Given the description of an element on the screen output the (x, y) to click on. 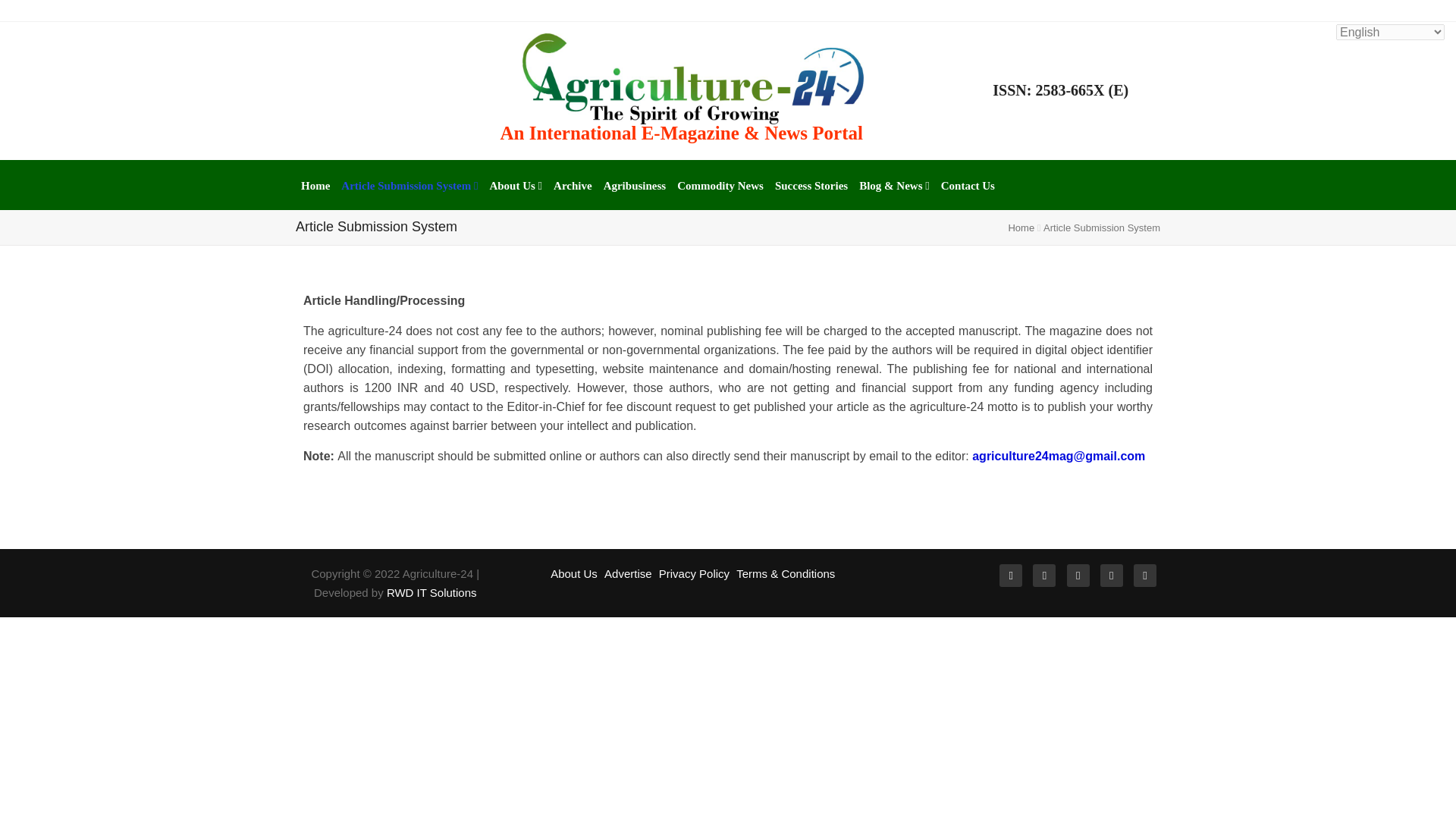
Commodity News (719, 185)
About Us (515, 185)
Article Submission System (408, 185)
About Us (515, 185)
Home (1020, 227)
Home (315, 185)
Archive (572, 185)
Agribusiness (635, 185)
Success Stories (810, 185)
Article Submission System (408, 185)
Agriculture-24 (692, 77)
Home (315, 185)
Contact Us (967, 185)
